Given the description of an element on the screen output the (x, y) to click on. 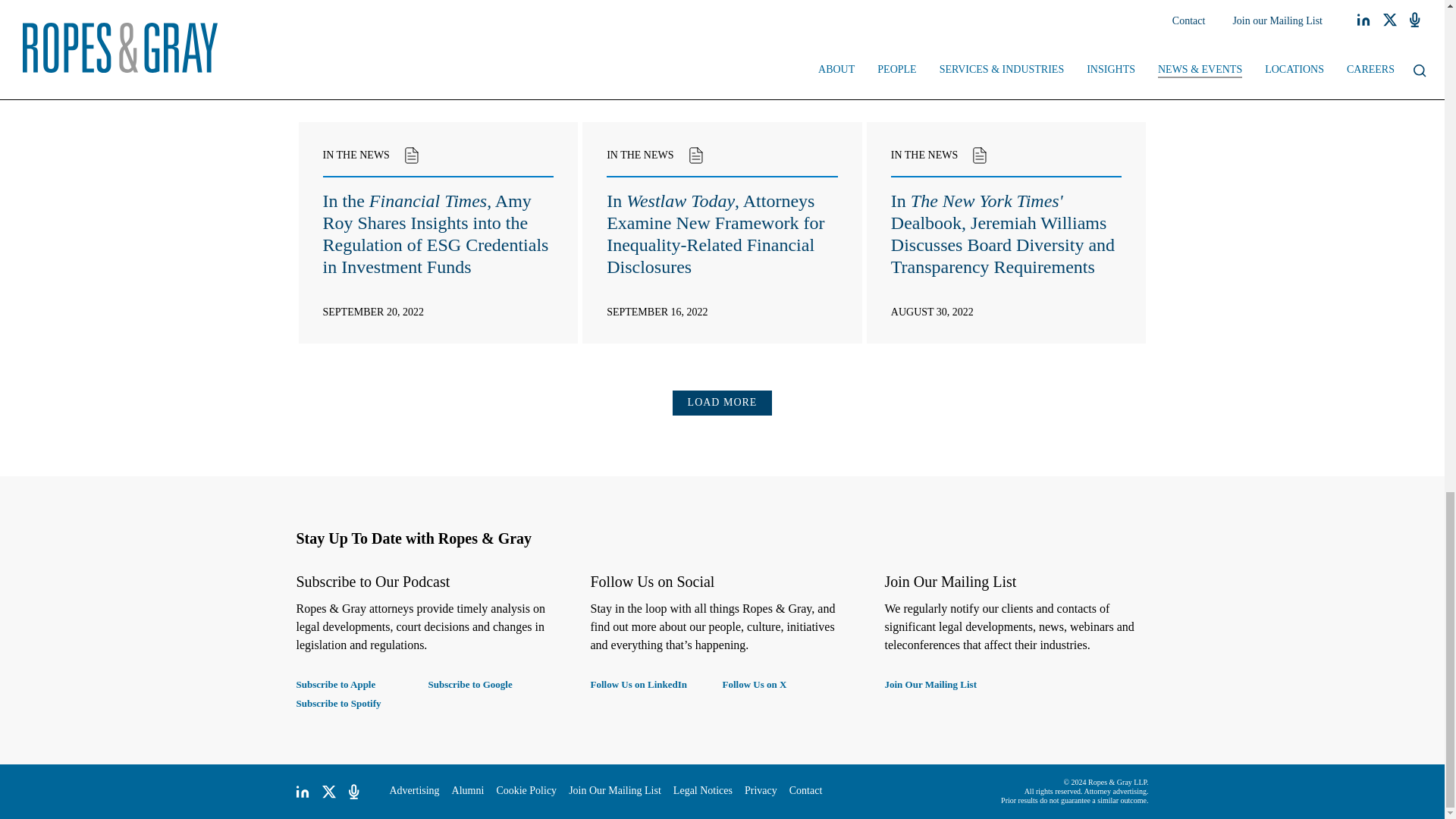
linkedin (301, 791)
x (328, 791)
